Given the description of an element on the screen output the (x, y) to click on. 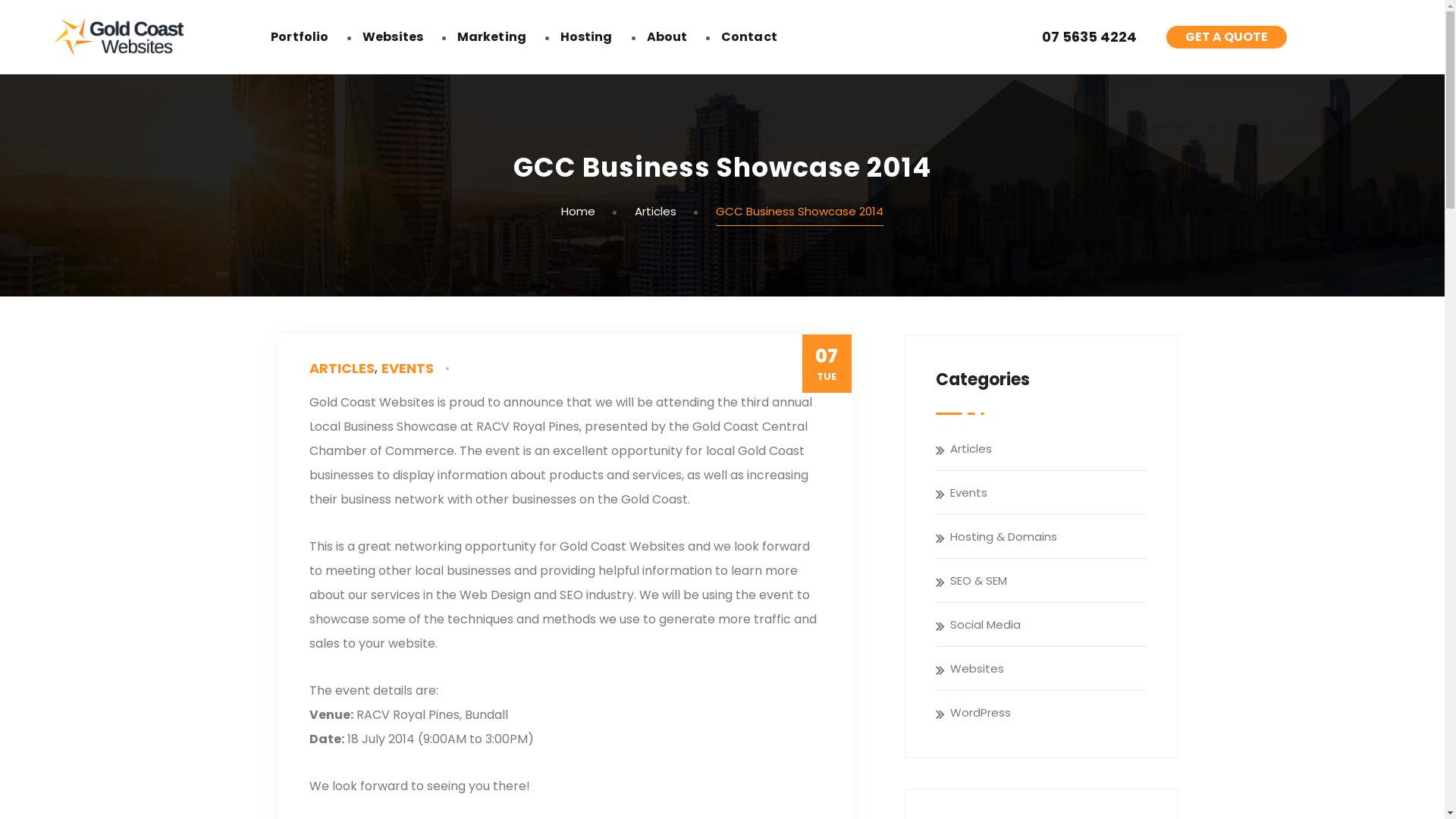
ARTICLES Element type: text (341, 368)
Social Media Element type: text (1047, 624)
SEO & SEM Element type: text (1047, 580)
WordPress Element type: text (1047, 712)
Marketing Element type: text (491, 36)
Articles Element type: text (1047, 448)
GET A QUOTE Element type: text (1226, 36)
Contact Element type: text (749, 36)
About Element type: text (666, 36)
EVENTS Element type: text (406, 368)
Events Element type: text (1047, 492)
Portfolio Element type: text (299, 36)
Websites Element type: text (392, 36)
07 5635 4224 Element type: text (1087, 36)
Hosting & Domains Element type: text (1047, 536)
Hosting Element type: text (586, 36)
Websites Element type: text (1047, 668)
Articles Element type: text (655, 211)
Home Element type: text (578, 211)
